Given the description of an element on the screen output the (x, y) to click on. 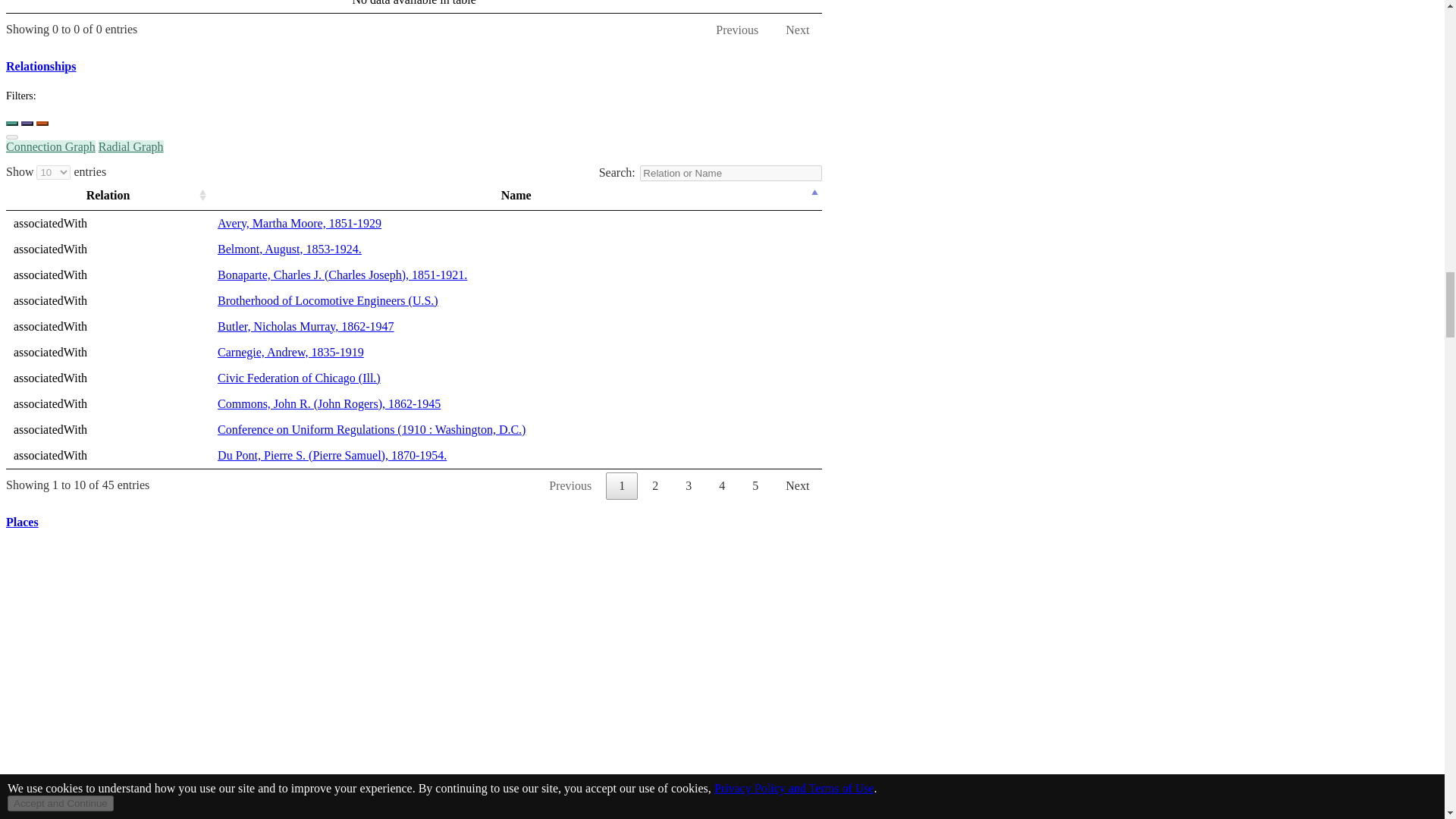
Family (42, 123)
Person (11, 123)
Clear Filters (11, 137)
Corporate Body (27, 123)
